Given the description of an element on the screen output the (x, y) to click on. 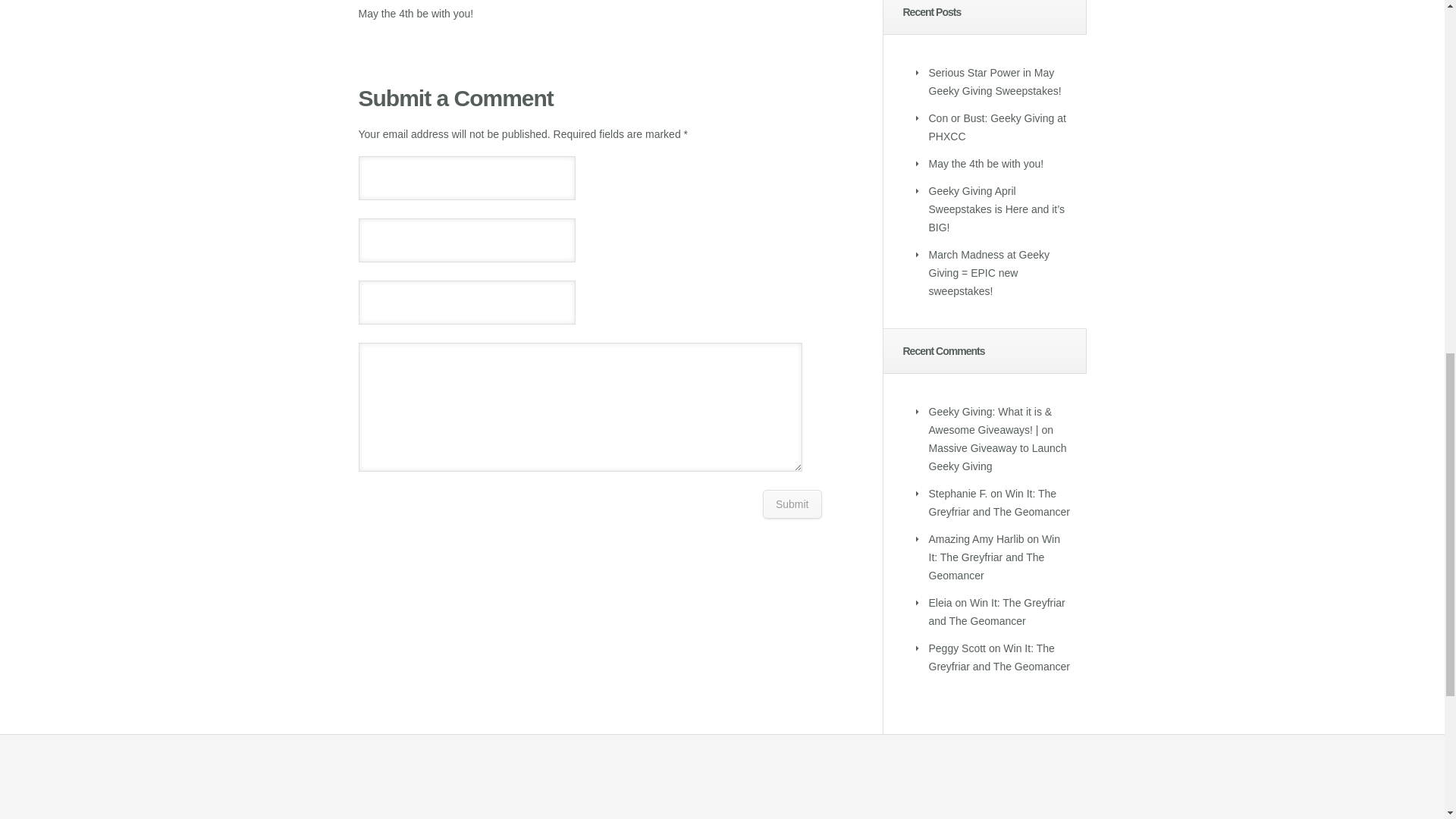
May the 4th be with you! (985, 163)
Submit (792, 503)
Submit (792, 503)
Con or Bust: Geeky Giving at PHXCC (996, 127)
Serious Star Power in May Geeky Giving Sweepstakes! (994, 81)
